Given the description of an element on the screen output the (x, y) to click on. 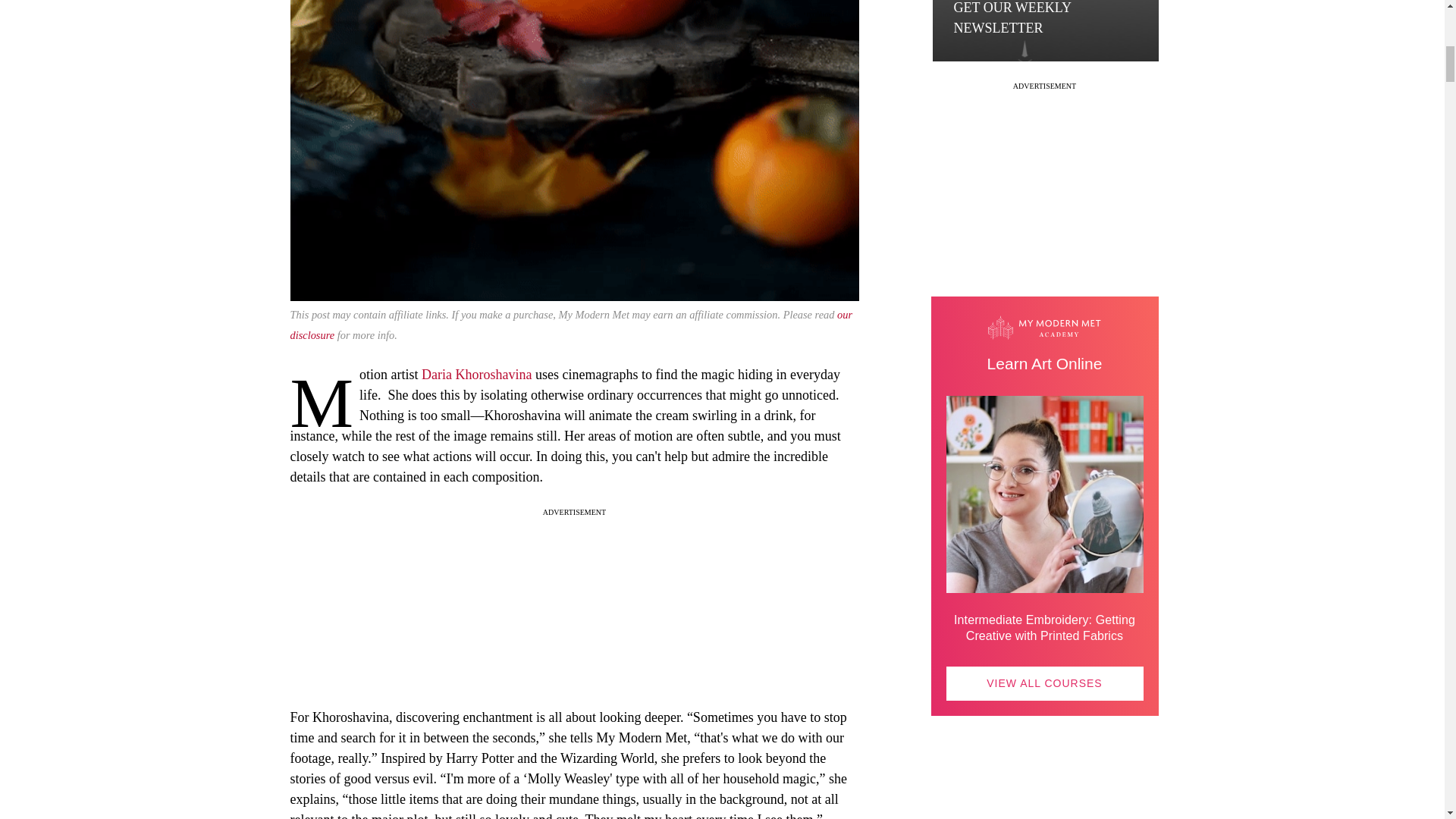
Visit Our Store (1044, 809)
